Given the description of an element on the screen output the (x, y) to click on. 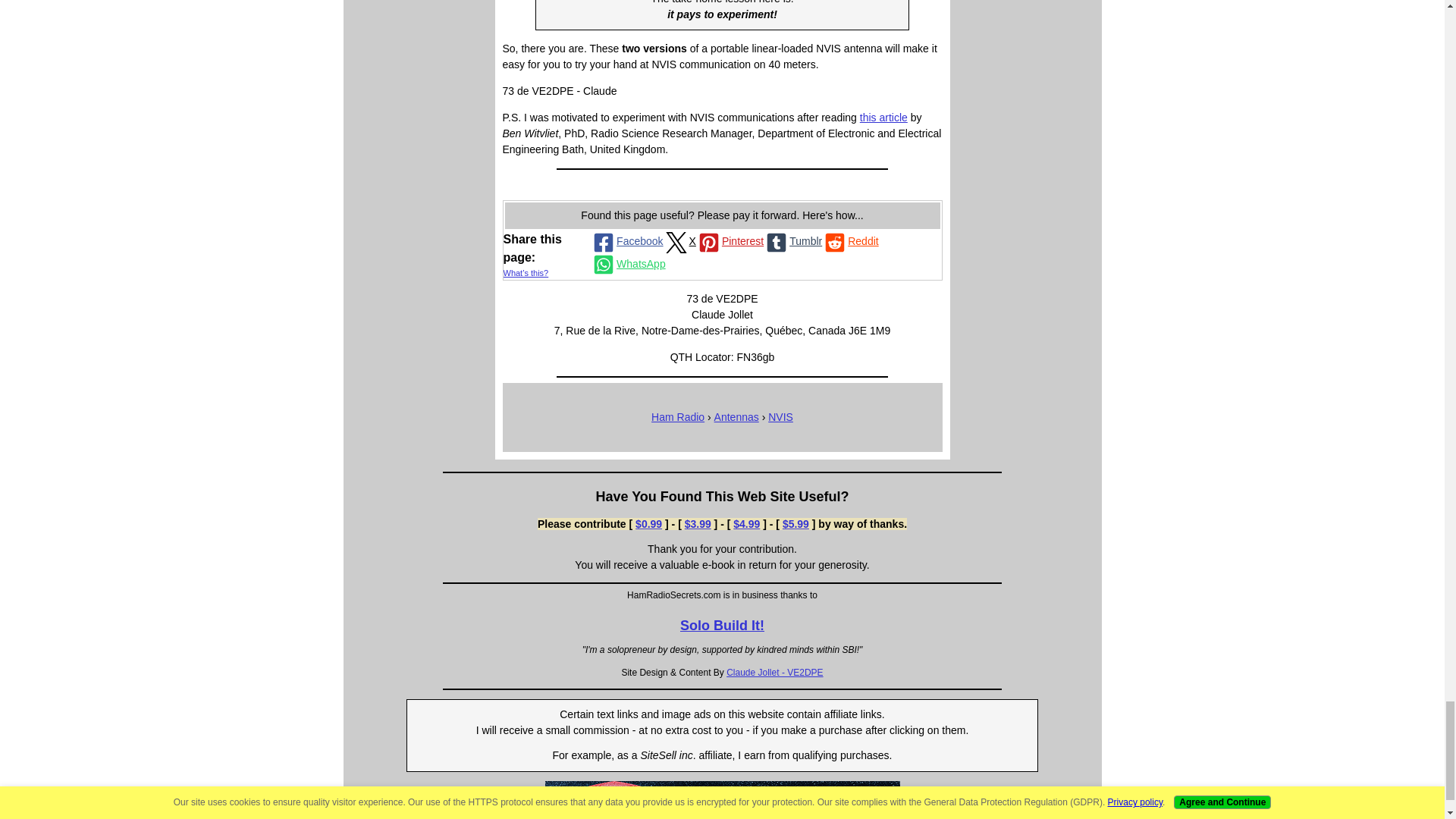
X (679, 241)
Ham Radio (677, 417)
Antennas (736, 417)
Reddit (849, 241)
Facebook (626, 241)
WhatsApp (628, 264)
this article (883, 117)
Pinterest (728, 241)
Tumblr (792, 241)
NVIS (780, 417)
